Given the description of an element on the screen output the (x, y) to click on. 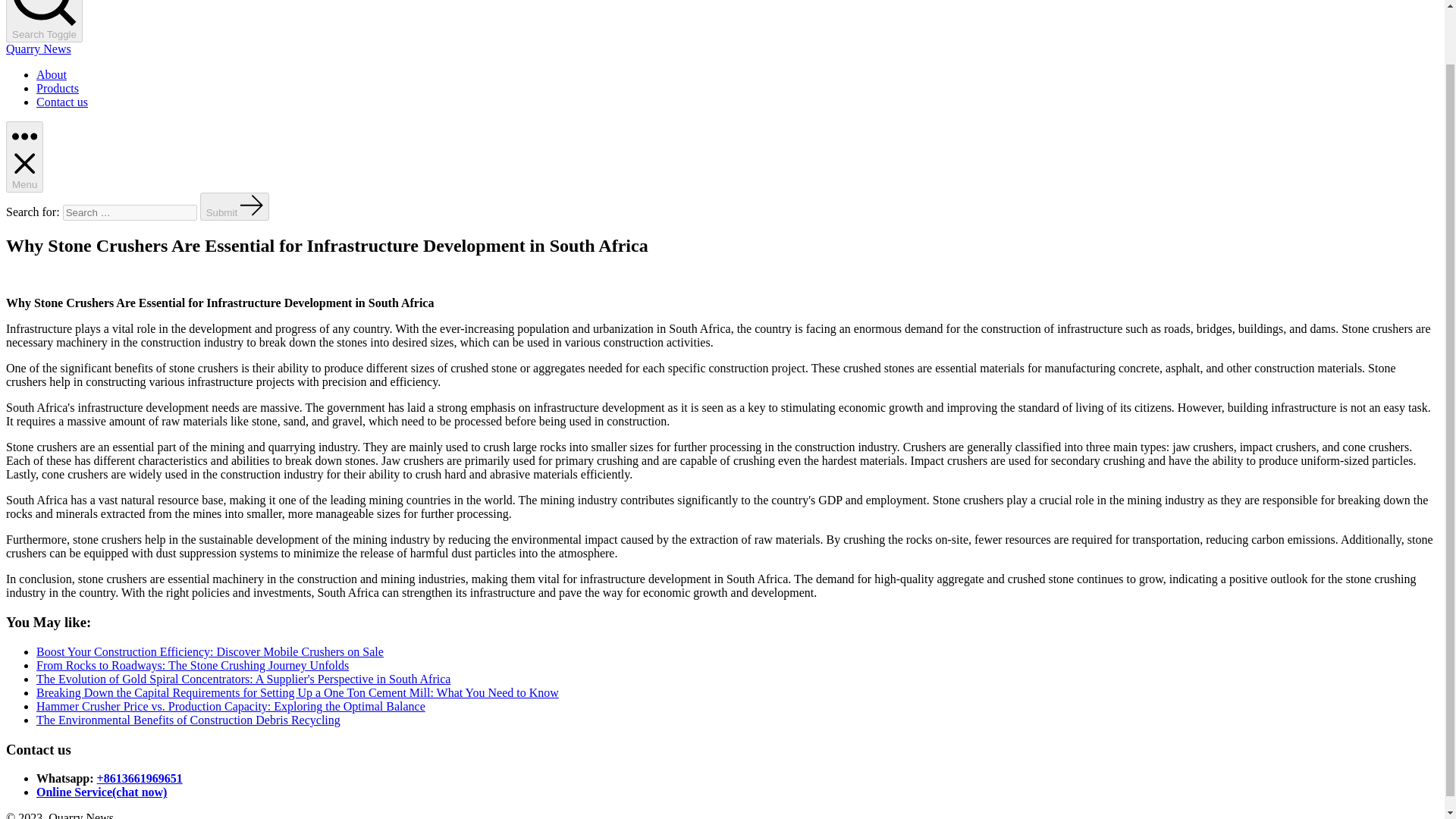
Products (57, 88)
Submit (234, 206)
About (51, 74)
From Rocks to Roadways: The Stone Crushing Journey Unfolds (192, 665)
Quarry News (38, 48)
Contact us (61, 101)
The Environmental Benefits of Construction Debris Recycling (188, 719)
Search Toggle (43, 21)
